Given the description of an element on the screen output the (x, y) to click on. 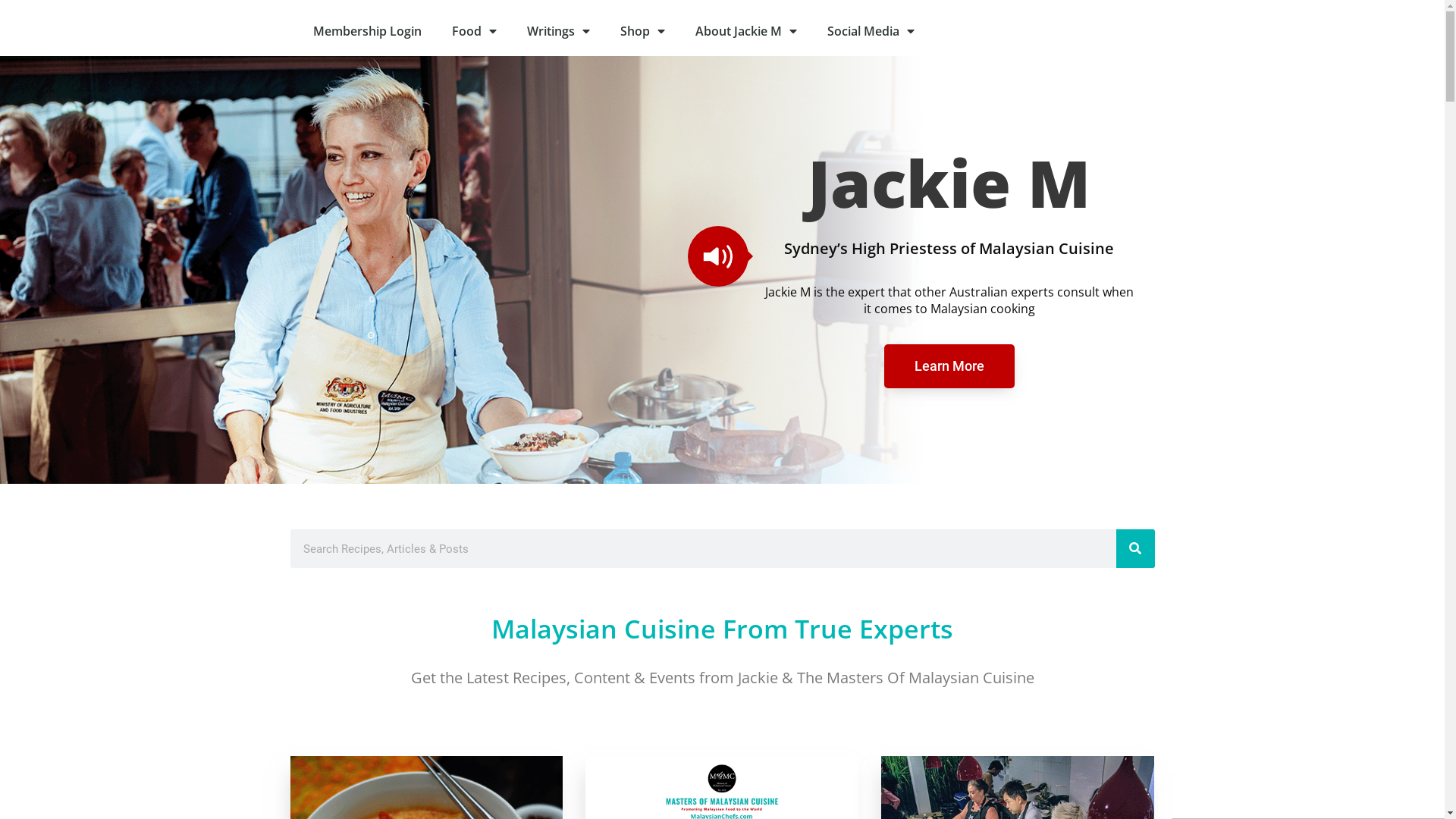
Writings Element type: text (557, 30)
Social Media Element type: text (869, 30)
Membership Login Element type: text (366, 30)
Read Content Element type: hover (717, 255)
Shop Element type: text (642, 30)
About Jackie M Element type: text (745, 30)
Learn More Element type: text (949, 366)
Food Element type: text (473, 30)
